Given the description of an element on the screen output the (x, y) to click on. 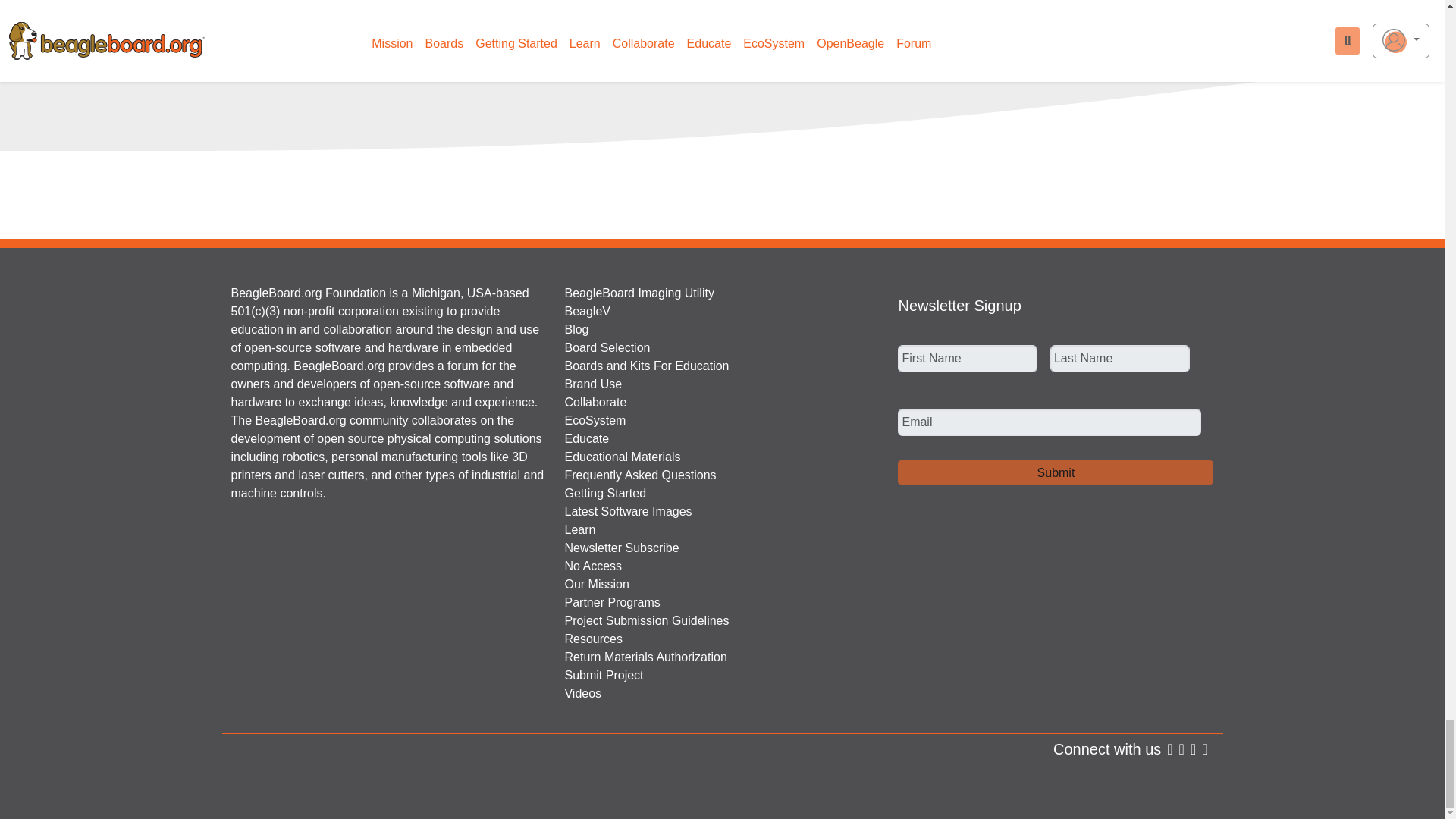
Follow us on Twitter (1182, 749)
Submit (1055, 472)
Check us out on YouTube (1203, 749)
